Given the description of an element on the screen output the (x, y) to click on. 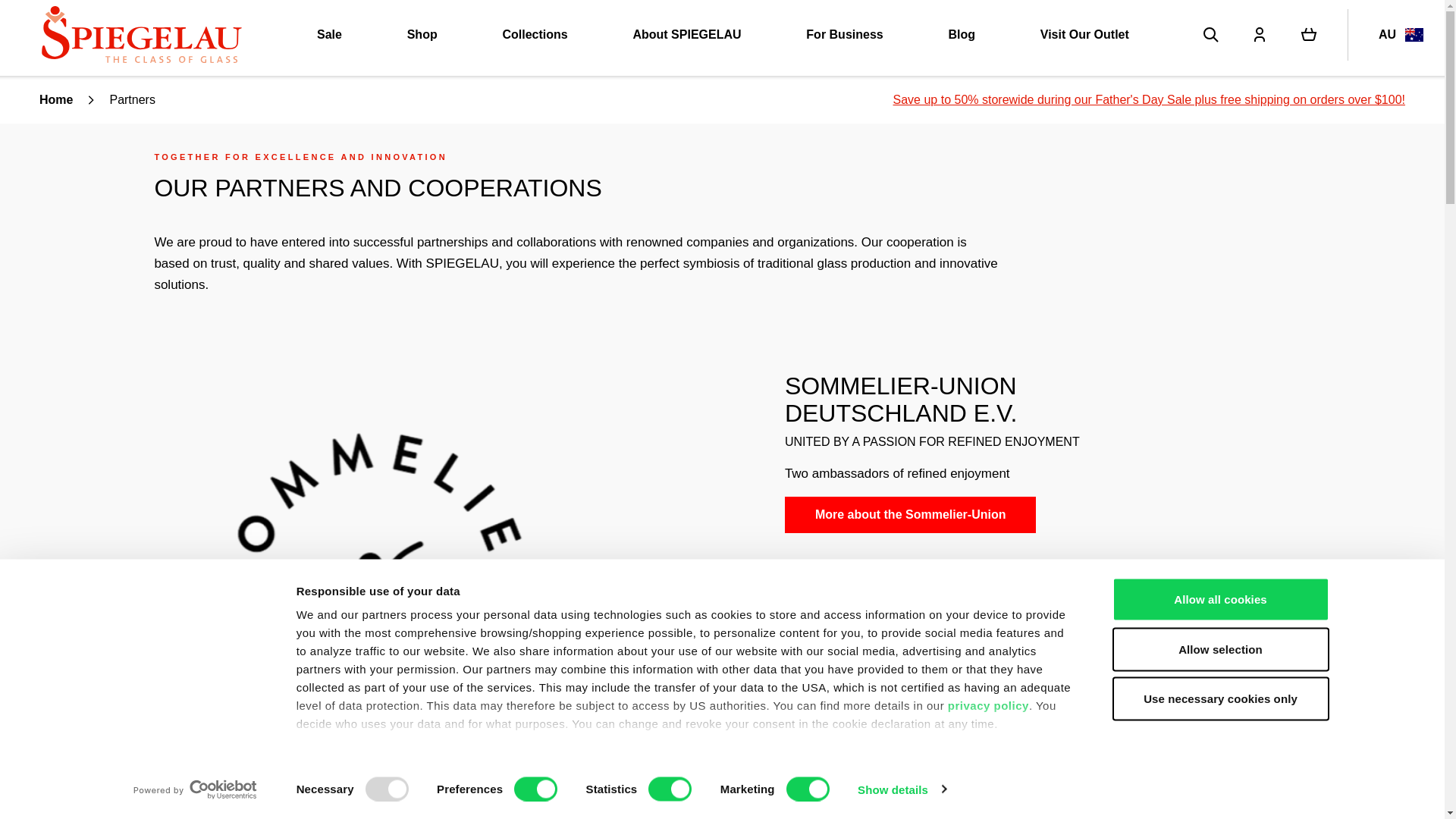
Search (1211, 34)
MySPIEGELAU (1259, 34)
privacy policy (988, 705)
Imprint (317, 759)
SPIEGELAU - The Class of Glass (141, 34)
Show details (900, 789)
